Given the description of an element on the screen output the (x, y) to click on. 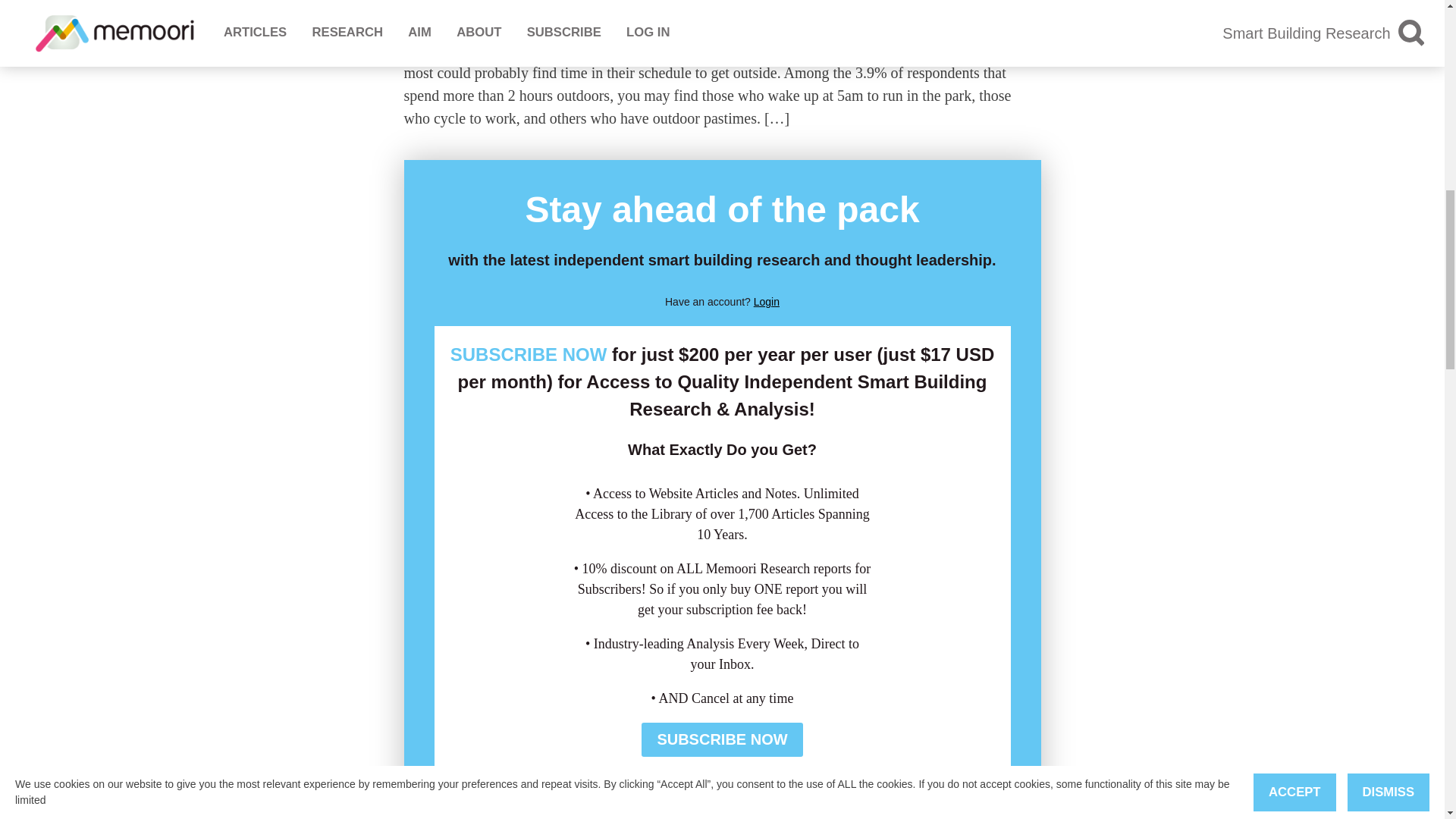
SUBSCRIBE NOW (528, 353)
SUBSCRIBE NOW (722, 739)
Login (766, 301)
